Given the description of an element on the screen output the (x, y) to click on. 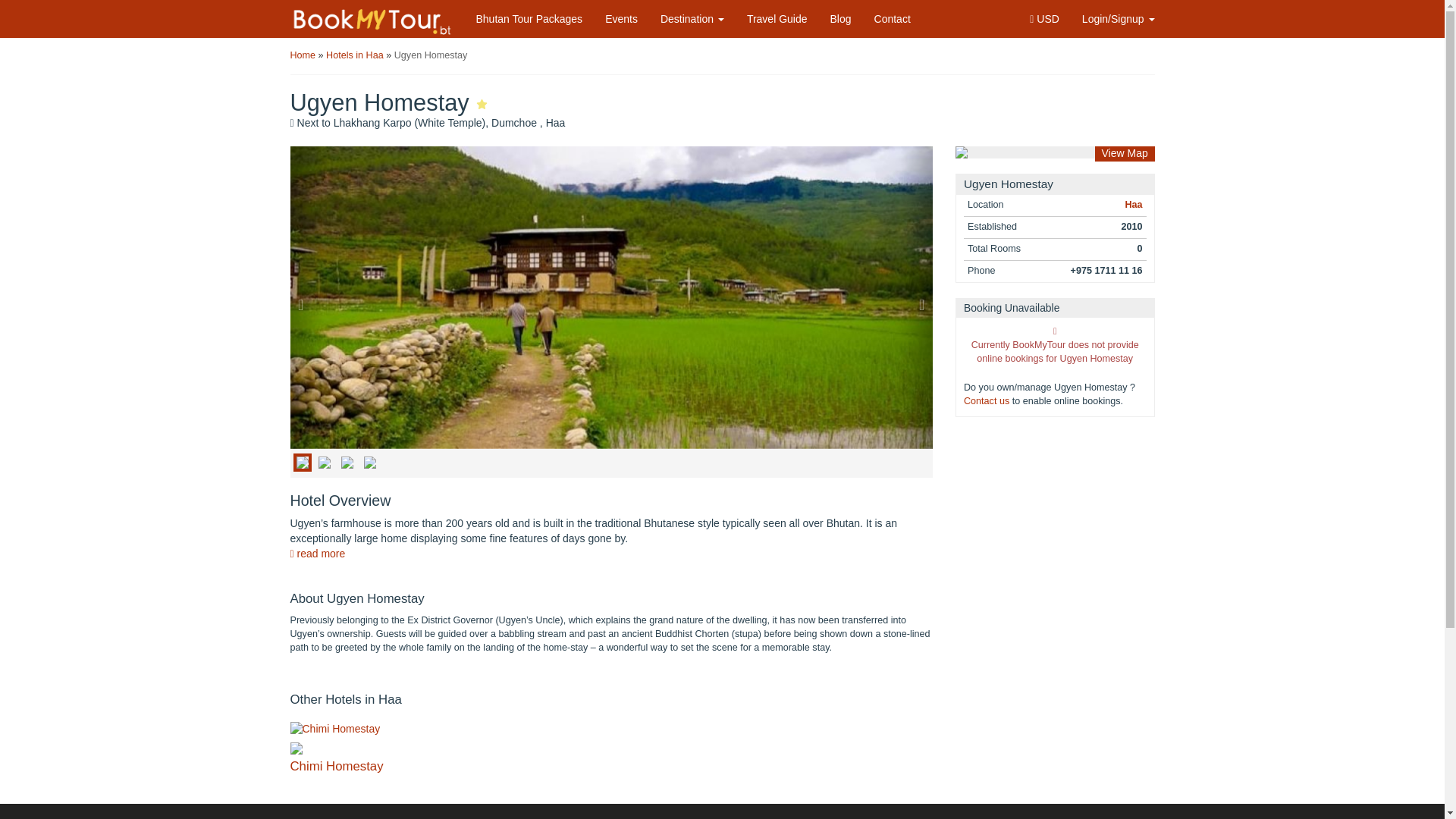
Book Hotels in Haa (1132, 204)
Hotels in Haa (355, 54)
Ugyen Homestay (430, 54)
Contact (892, 18)
USD (1043, 18)
Home (302, 54)
Travel Guide (776, 18)
Events in Bhutan (621, 18)
Bhutan Tours (529, 18)
BookMyTour (373, 22)
